Given the description of an element on the screen output the (x, y) to click on. 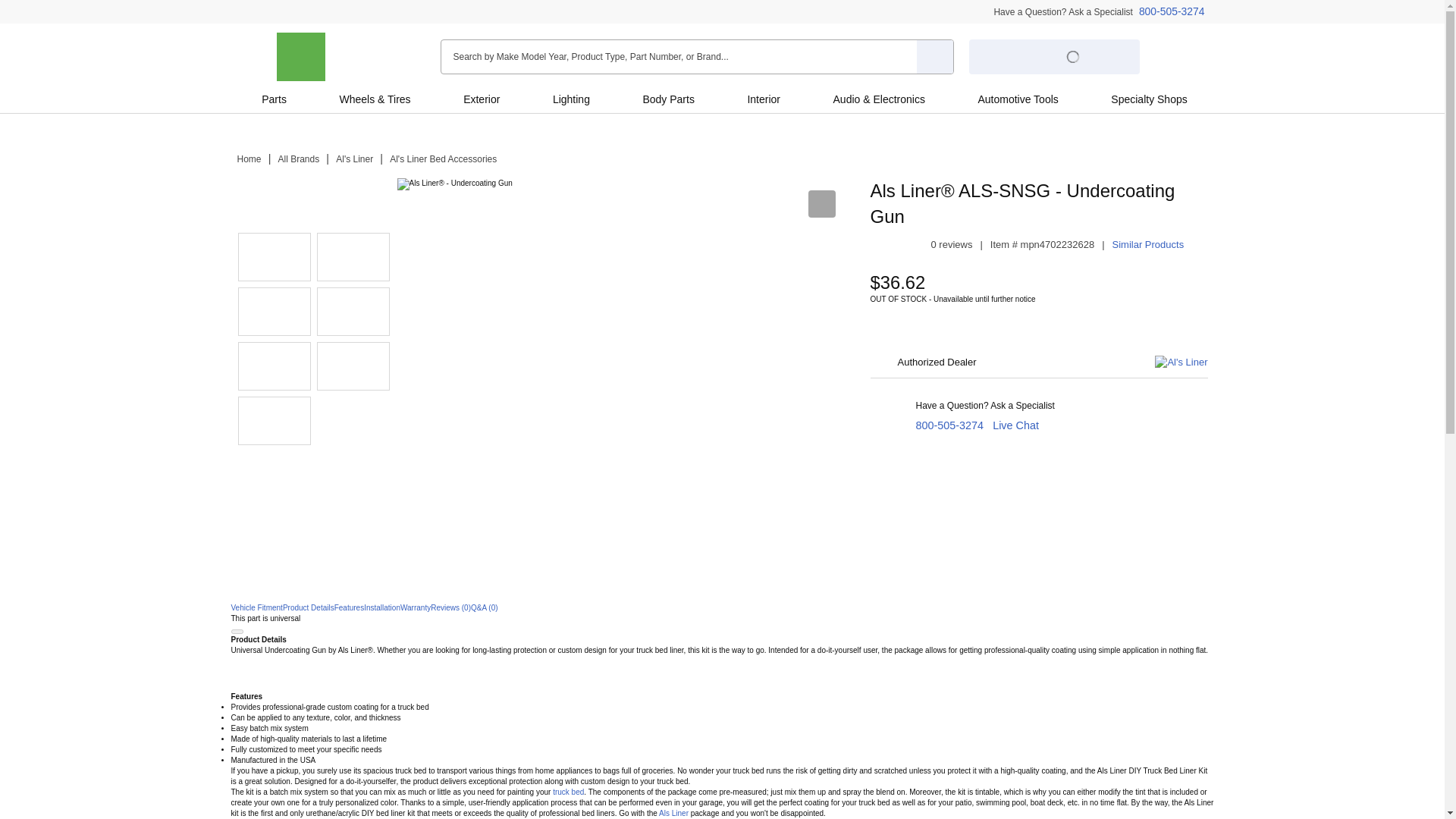
Als Liner (673, 813)
Warranty (415, 607)
800-505-3274 (1171, 10)
Home (247, 158)
Al's Liner (354, 158)
Features (349, 607)
800-505-3274 (949, 425)
Automotive Tools (1017, 99)
Warranty (415, 607)
Product Details (308, 607)
Al's Liner Bed Accessories (443, 158)
Additional Information (557, 671)
Made In USA (353, 366)
Vehicle Fitment (256, 607)
Parts (273, 99)
